Given the description of an element on the screen output the (x, y) to click on. 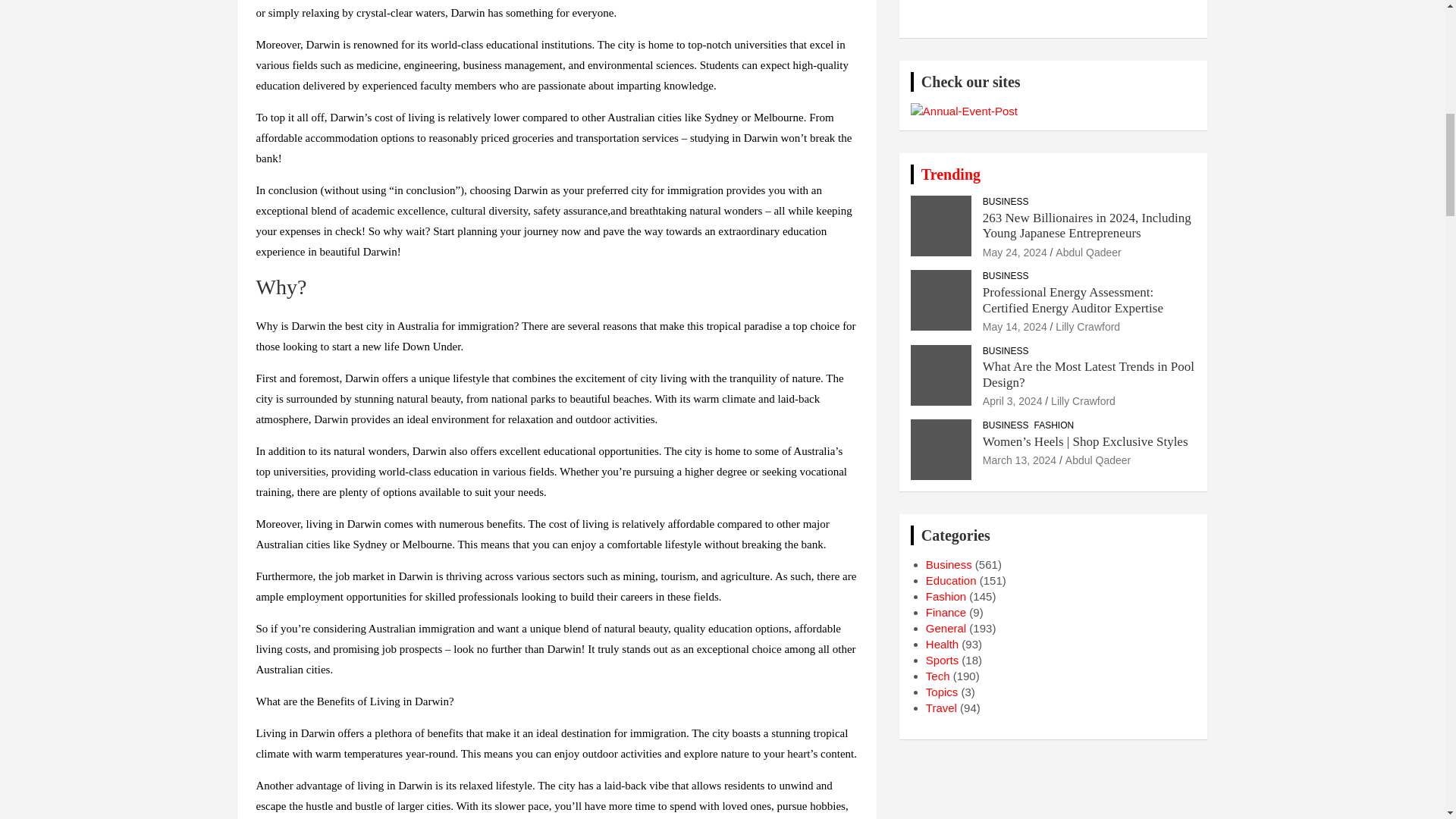
What Are the Most Latest Trends in Pool Design? (1012, 400)
